Given the description of an element on the screen output the (x, y) to click on. 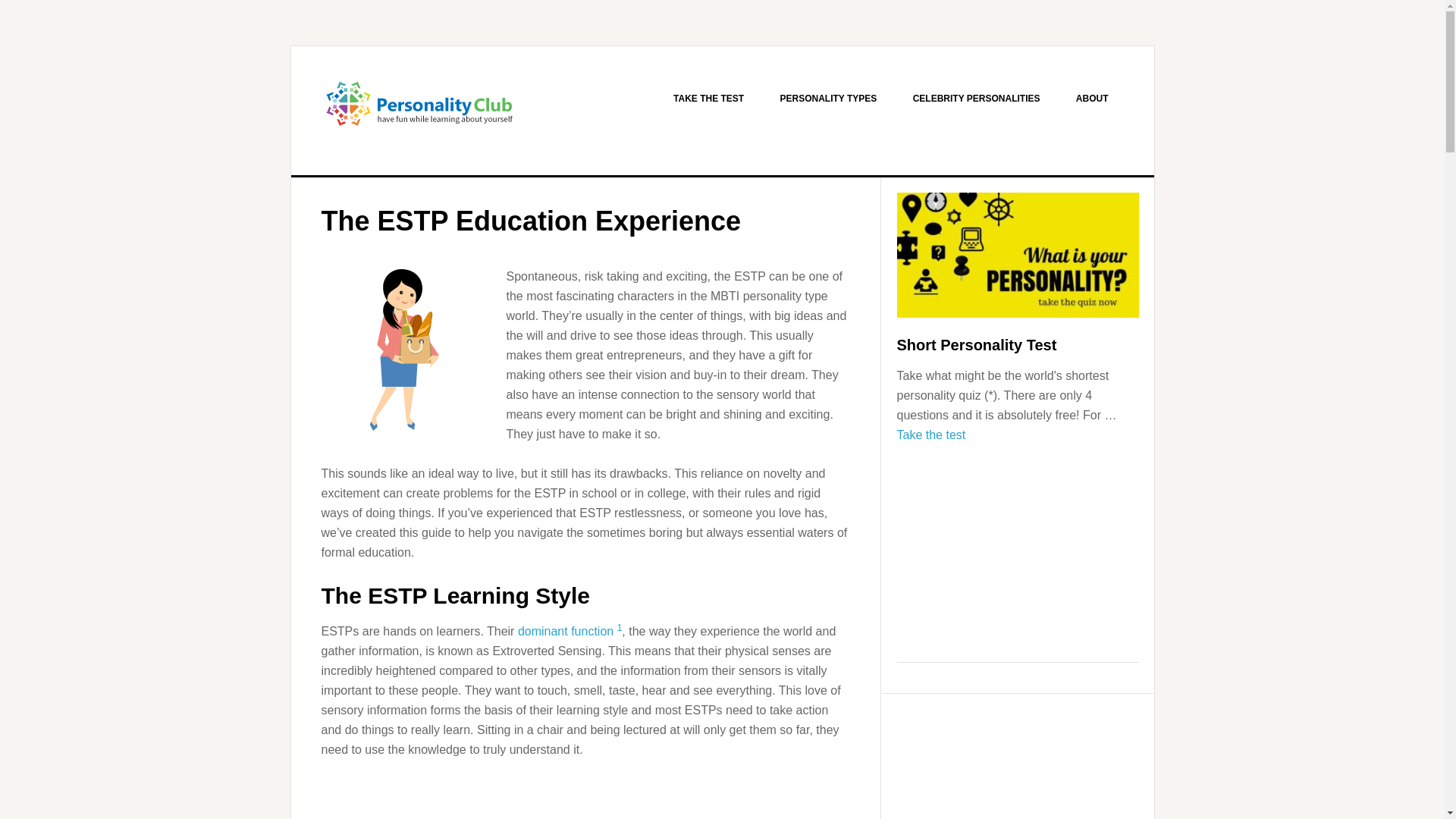
PERSONALITY TYPES (828, 98)
PERSONALITY CLUB (419, 110)
CELEBRITY PERSONALITIES (976, 98)
dominant function (565, 631)
TAKE THE TEST (708, 98)
ABOUT (1092, 98)
